Given the description of an element on the screen output the (x, y) to click on. 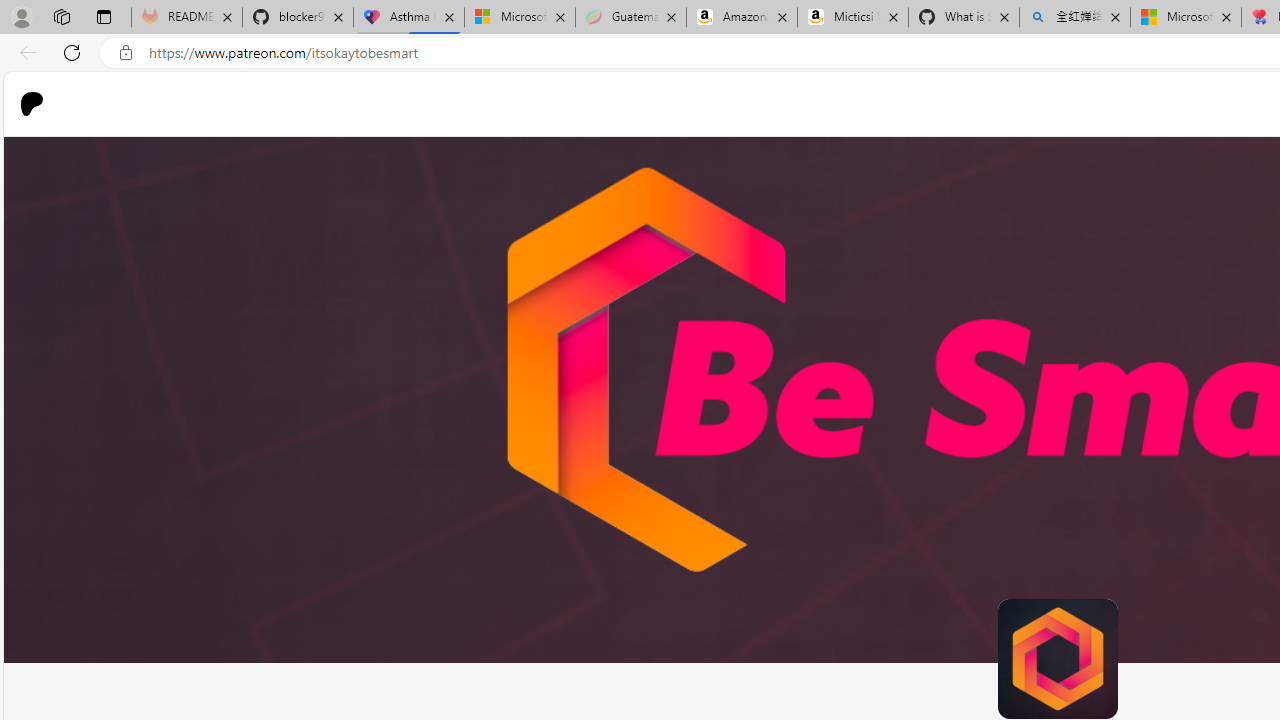
Patreon logo (31, 103)
Asthma Inhalers: Names and Types (409, 17)
Go to home page (40, 103)
Microsoft-Report a Concern to Bing (519, 17)
